Given the description of an element on the screen output the (x, y) to click on. 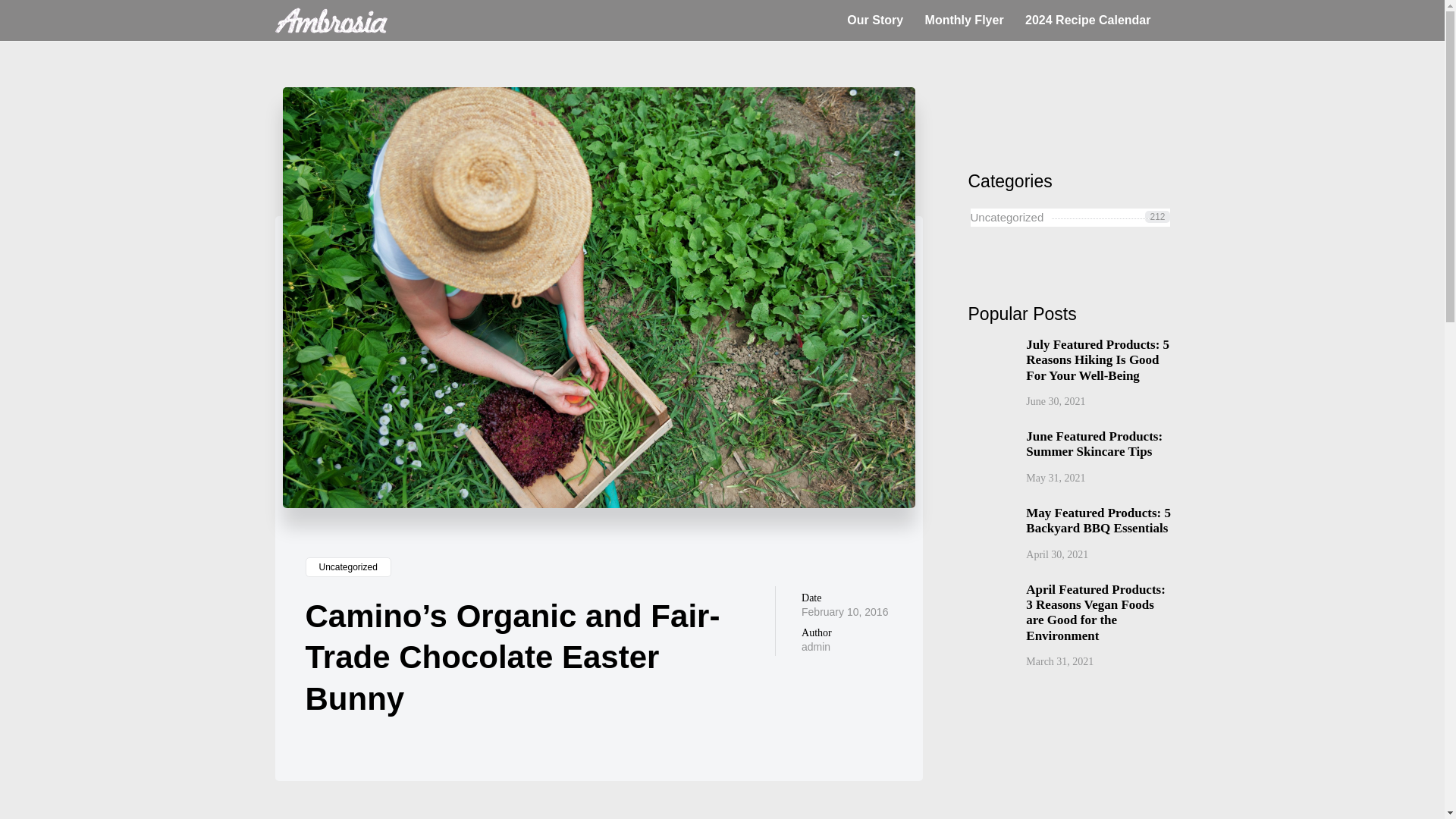
May 31, 2021 (1055, 478)
June 30, 2021 (1055, 401)
May Featured Products: 5 Backyard BBQ Essentials (1099, 521)
2024 Recipe Calendar (1088, 20)
Our Story (874, 20)
March 31, 2021 (1059, 661)
Monthly Flyer (964, 20)
May Featured Products: 5 Backyard BBQ Essentials (1099, 521)
View all posts in Uncategorized (347, 567)
June Featured Products: Summer Skincare Tips (1099, 444)
April 30, 2021 (1056, 554)
June Featured Products: Summer Skincare Tips (1099, 444)
